Given the description of an element on the screen output the (x, y) to click on. 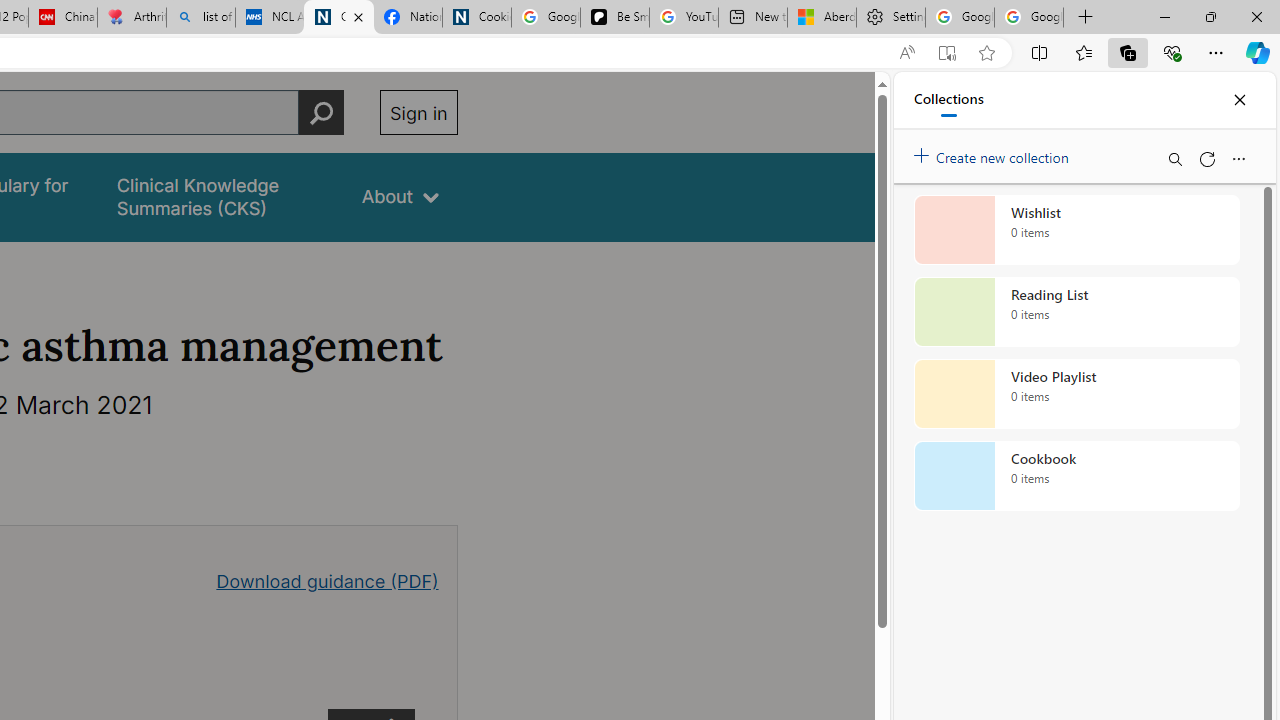
Download guidance (PDF) (327, 580)
Create new collection (994, 153)
More options menu (1238, 158)
